Given the description of an element on the screen output the (x, y) to click on. 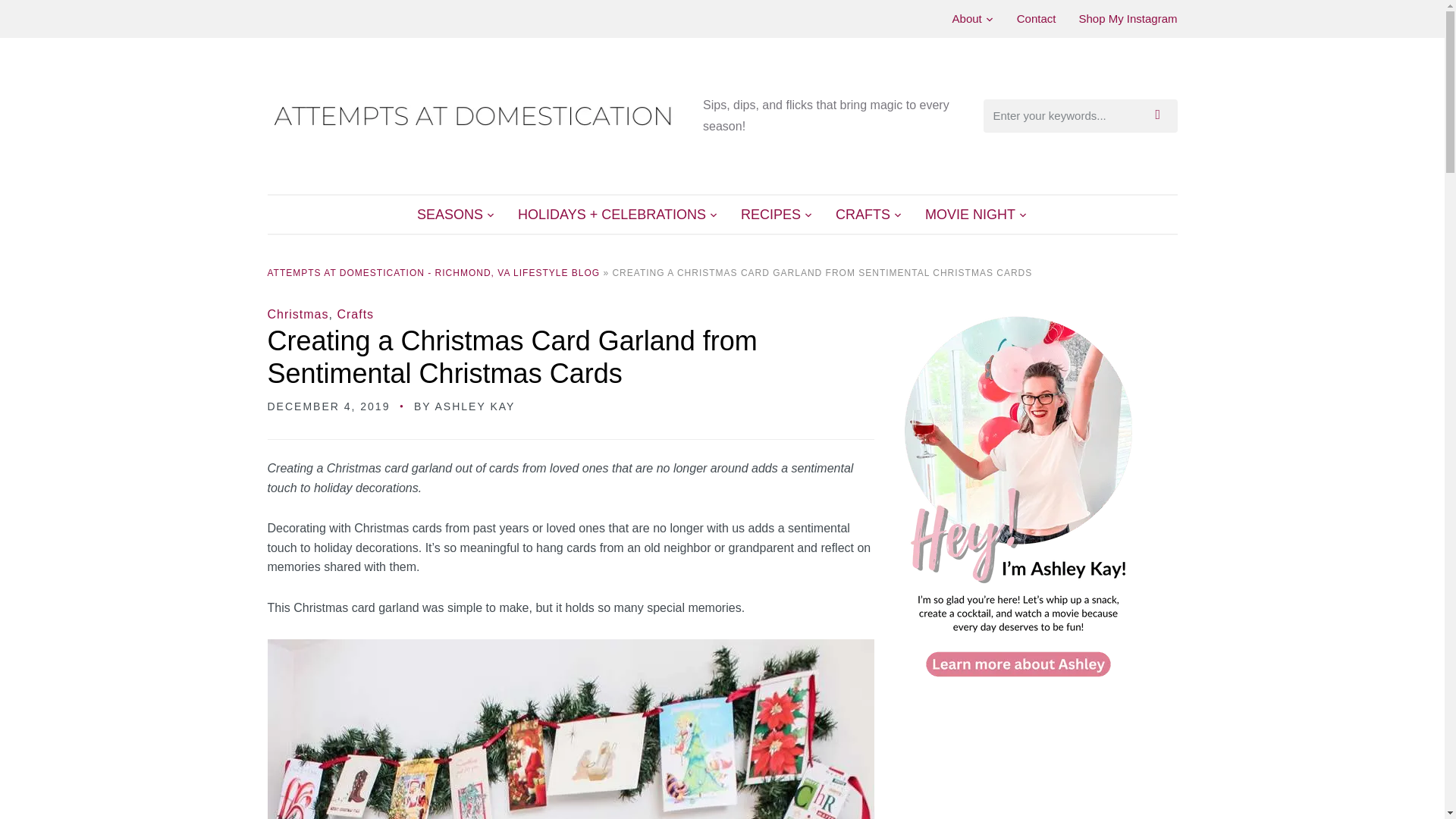
Search (1161, 115)
Search (1161, 115)
Contact (1036, 18)
Posts by Ashley Kay (475, 406)
Shop My Instagram (1127, 18)
Search (1161, 115)
About (973, 18)
